Given the description of an element on the screen output the (x, y) to click on. 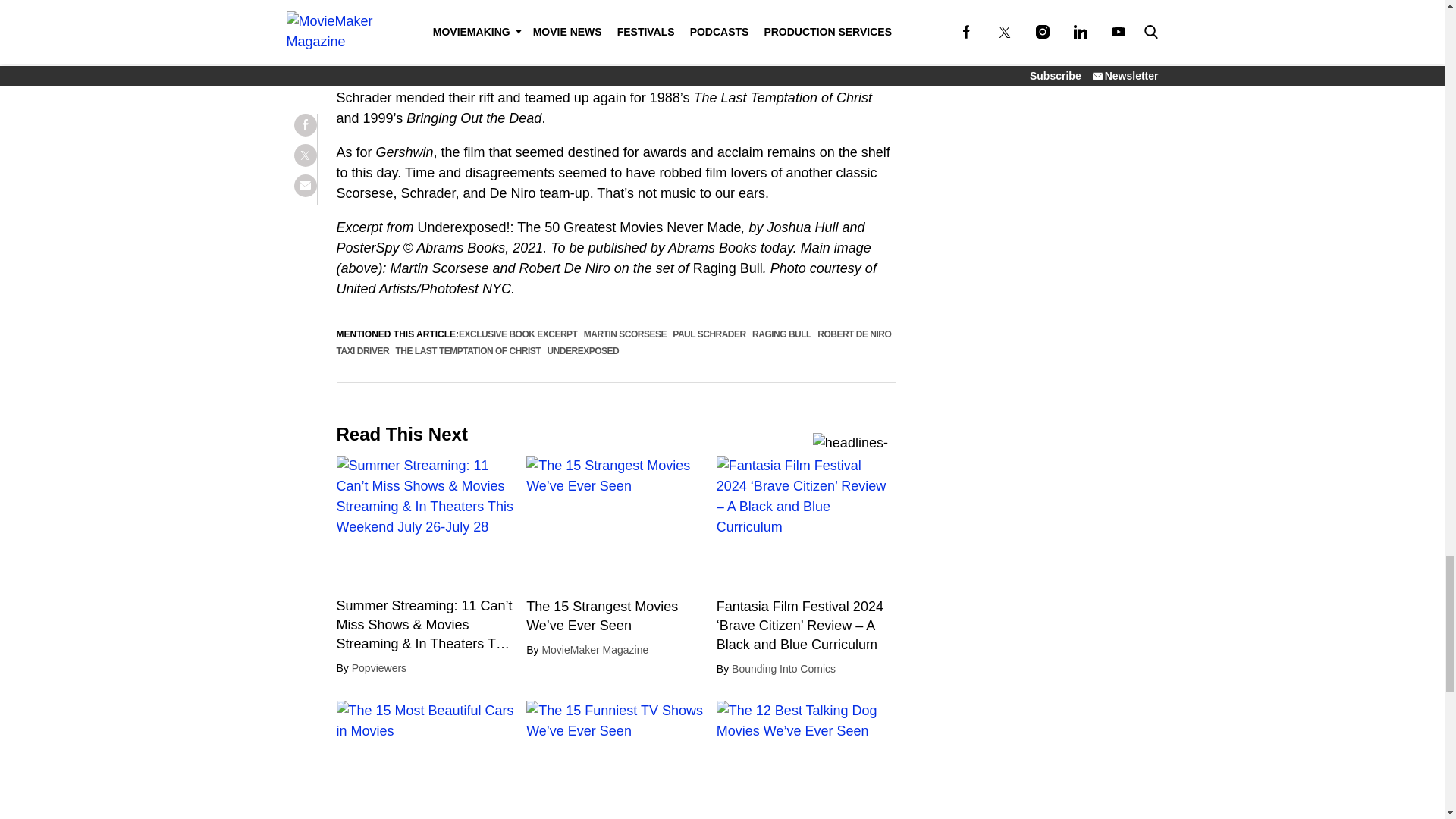
RAGING BULL (781, 334)
ROBERT DE NIRO (853, 334)
PAUL SCHRADER (708, 334)
EXCLUSIVE BOOK EXCERPT (517, 334)
MARTIN SCORSESE (624, 334)
TAXI DRIVER (363, 350)
